Given the description of an element on the screen output the (x, y) to click on. 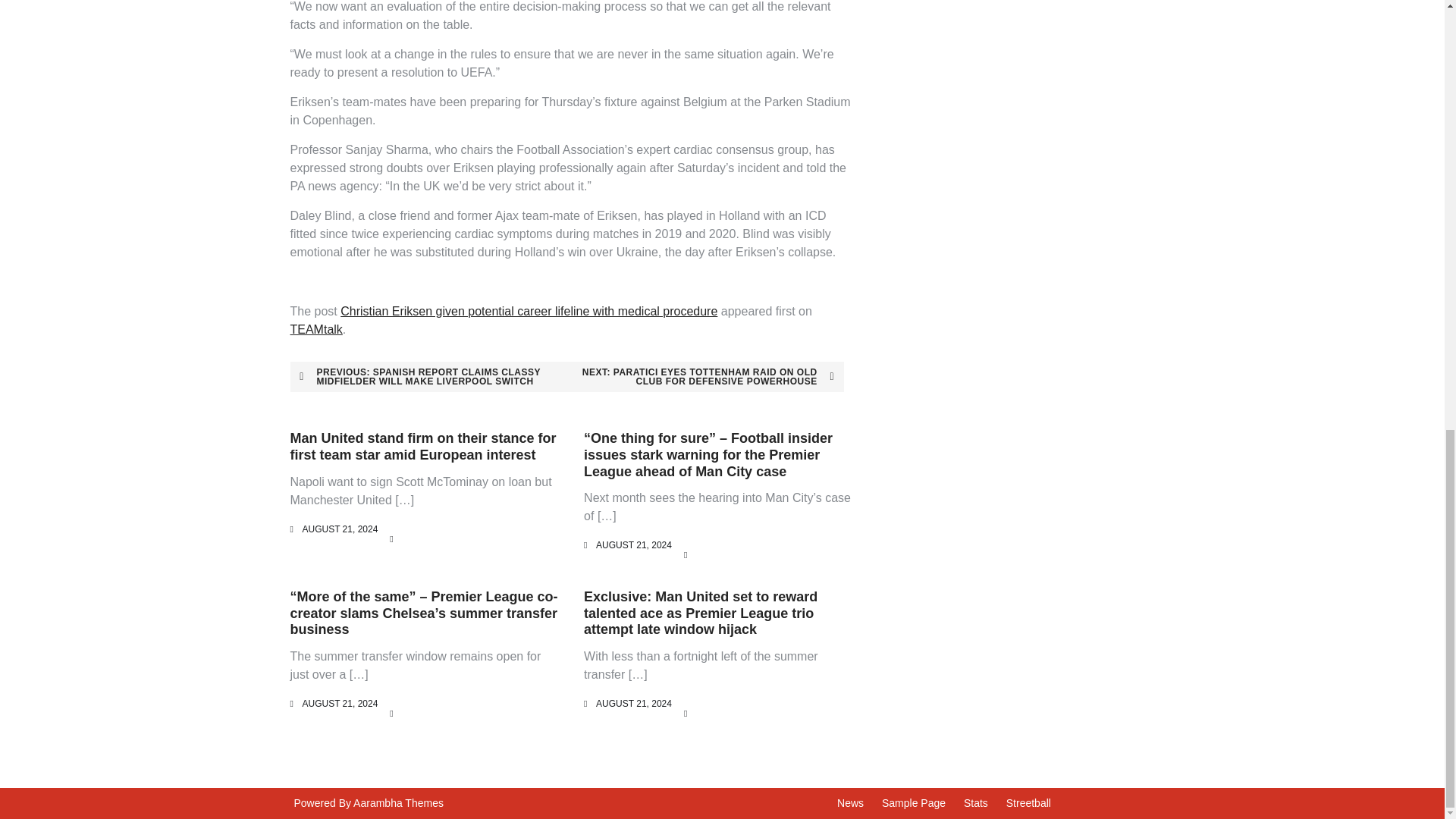
AUGUST 21, 2024 (339, 703)
AUGUST 21, 2024 (633, 703)
AUGUST 21, 2024 (339, 529)
TEAMtalk (315, 328)
Aarambha Themes (398, 802)
